Given the description of an element on the screen output the (x, y) to click on. 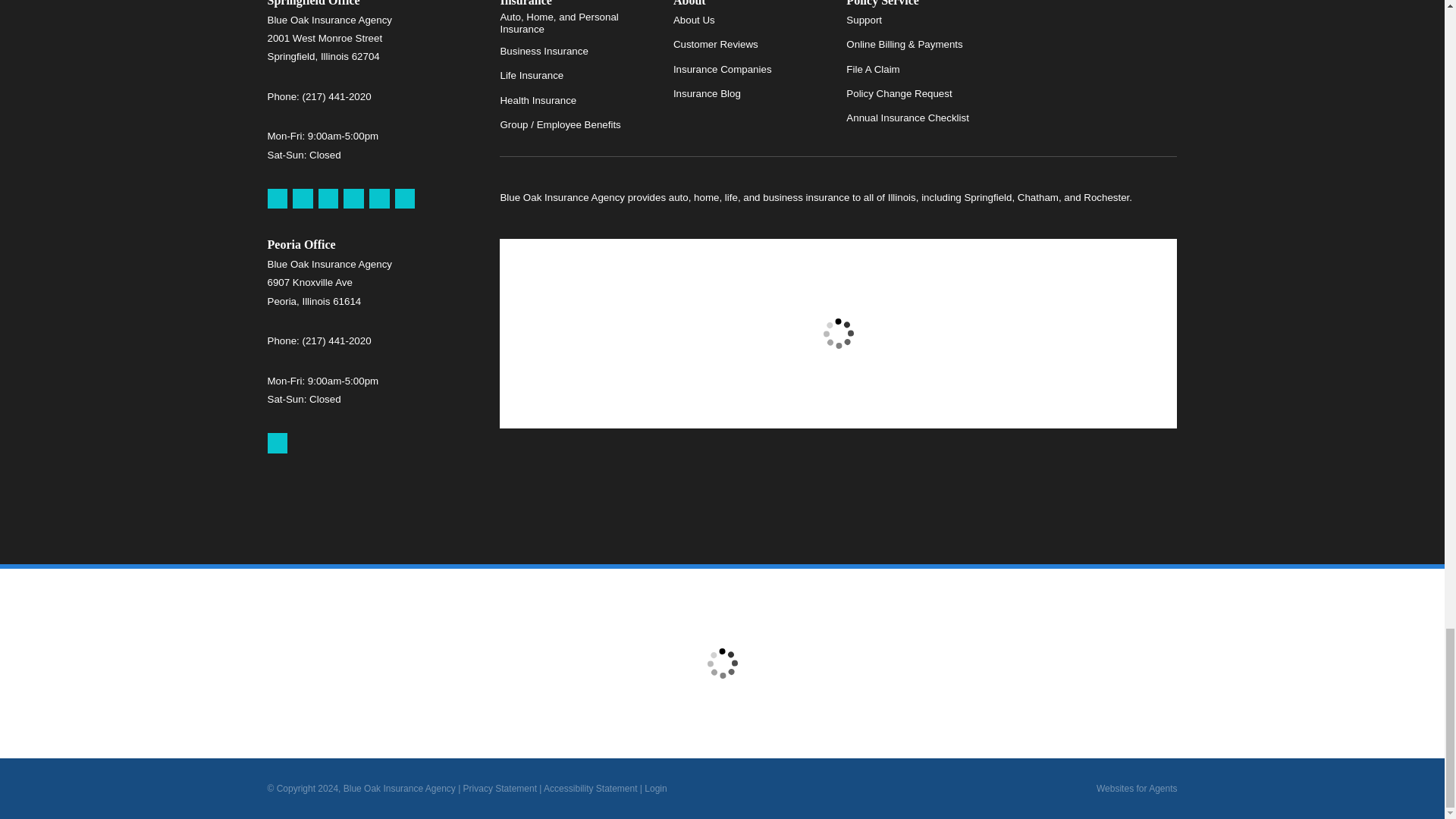
X (353, 199)
BBB Accreditation (1098, 24)
LinkedIn (379, 199)
Facebook (328, 199)
Instagram (404, 199)
Yelp (302, 199)
Google Maps (276, 443)
Google Maps (276, 199)
